Given the description of an element on the screen output the (x, y) to click on. 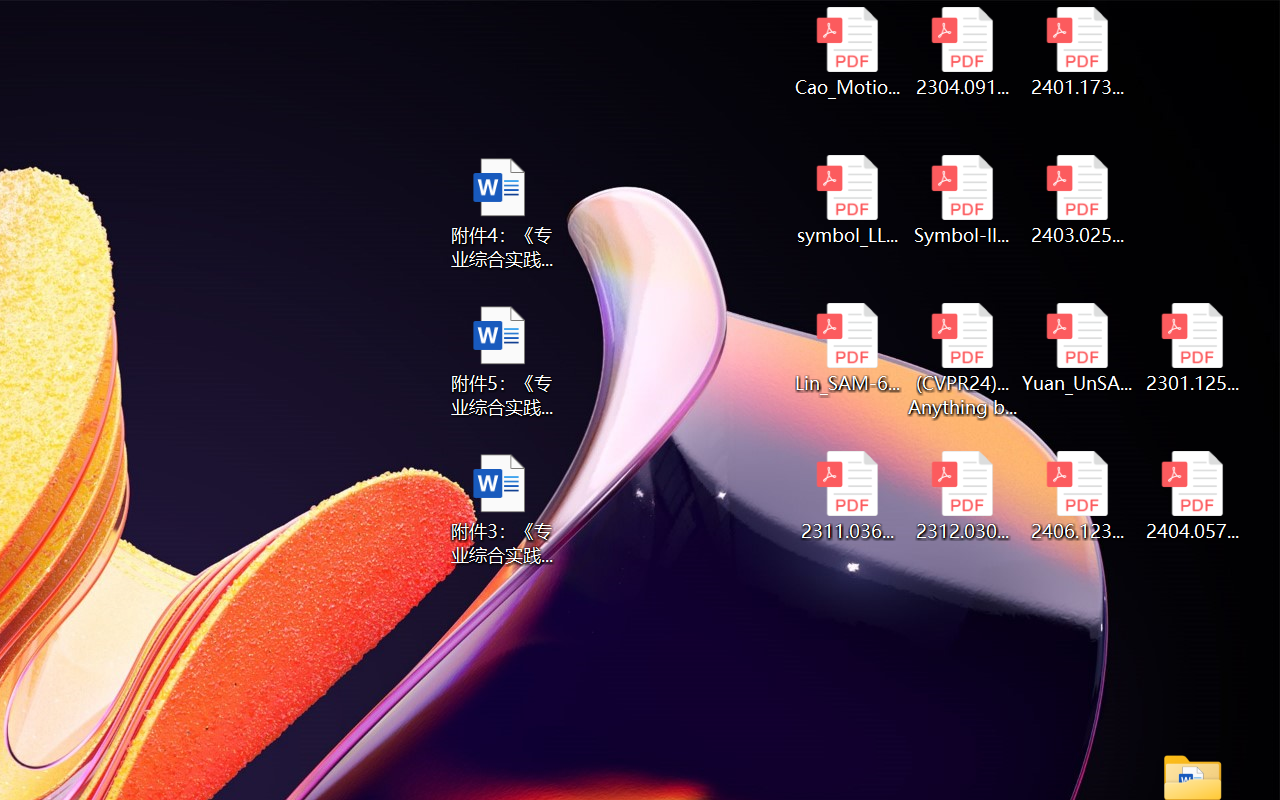
2404.05719v1.pdf (1192, 496)
symbol_LLM.pdf (846, 200)
